Given the description of an element on the screen output the (x, y) to click on. 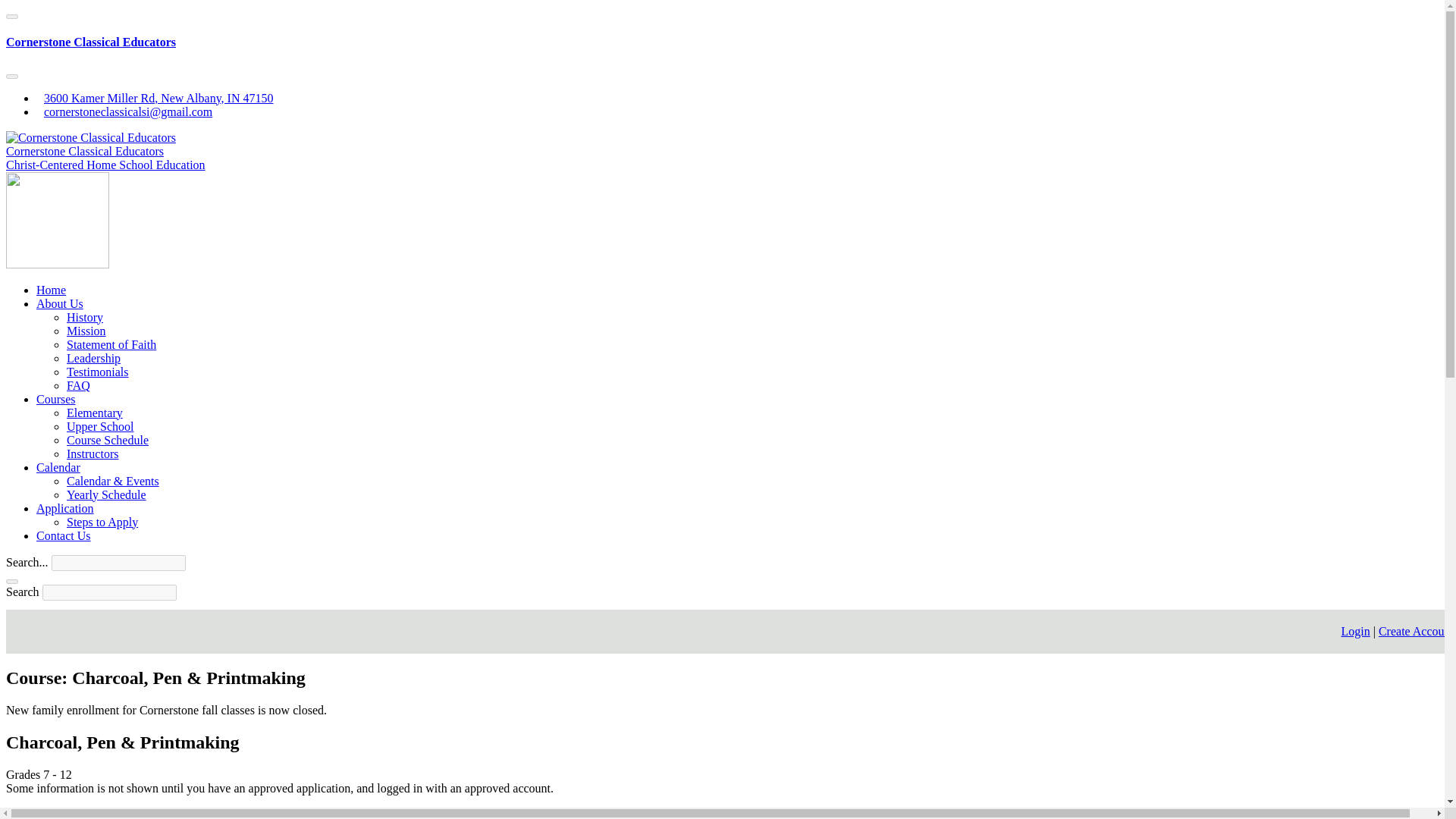
Statement of Faith (110, 344)
Courses (55, 399)
Calendar (58, 467)
Testimonials (97, 371)
Application (65, 508)
Steps to Apply (102, 521)
Yearly Schedule (106, 494)
Instructors (91, 453)
Elementary (94, 412)
Home (50, 289)
